Given the description of an element on the screen output the (x, y) to click on. 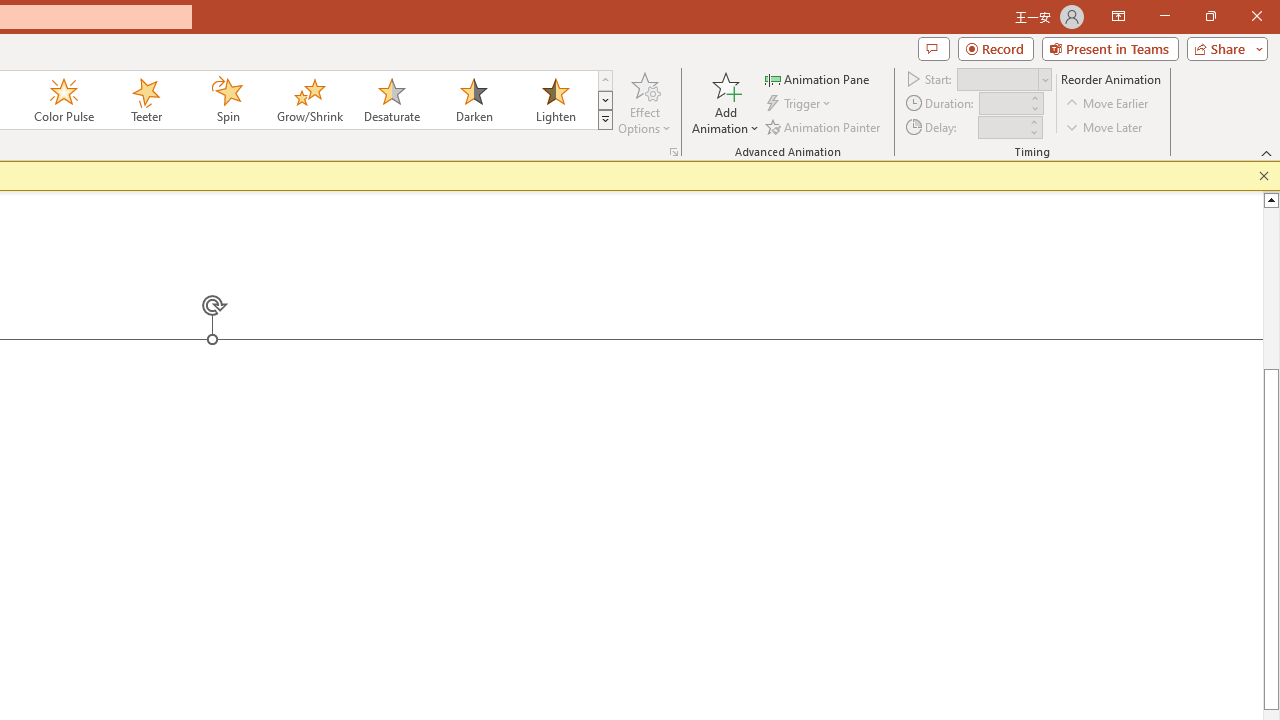
Move Earlier (1107, 103)
More Options... (673, 151)
Trigger (799, 103)
Move Later (1105, 126)
Grow/Shrink (309, 100)
Animation Duration (1003, 103)
Animation Styles (605, 120)
Desaturate (391, 100)
